Given the description of an element on the screen output the (x, y) to click on. 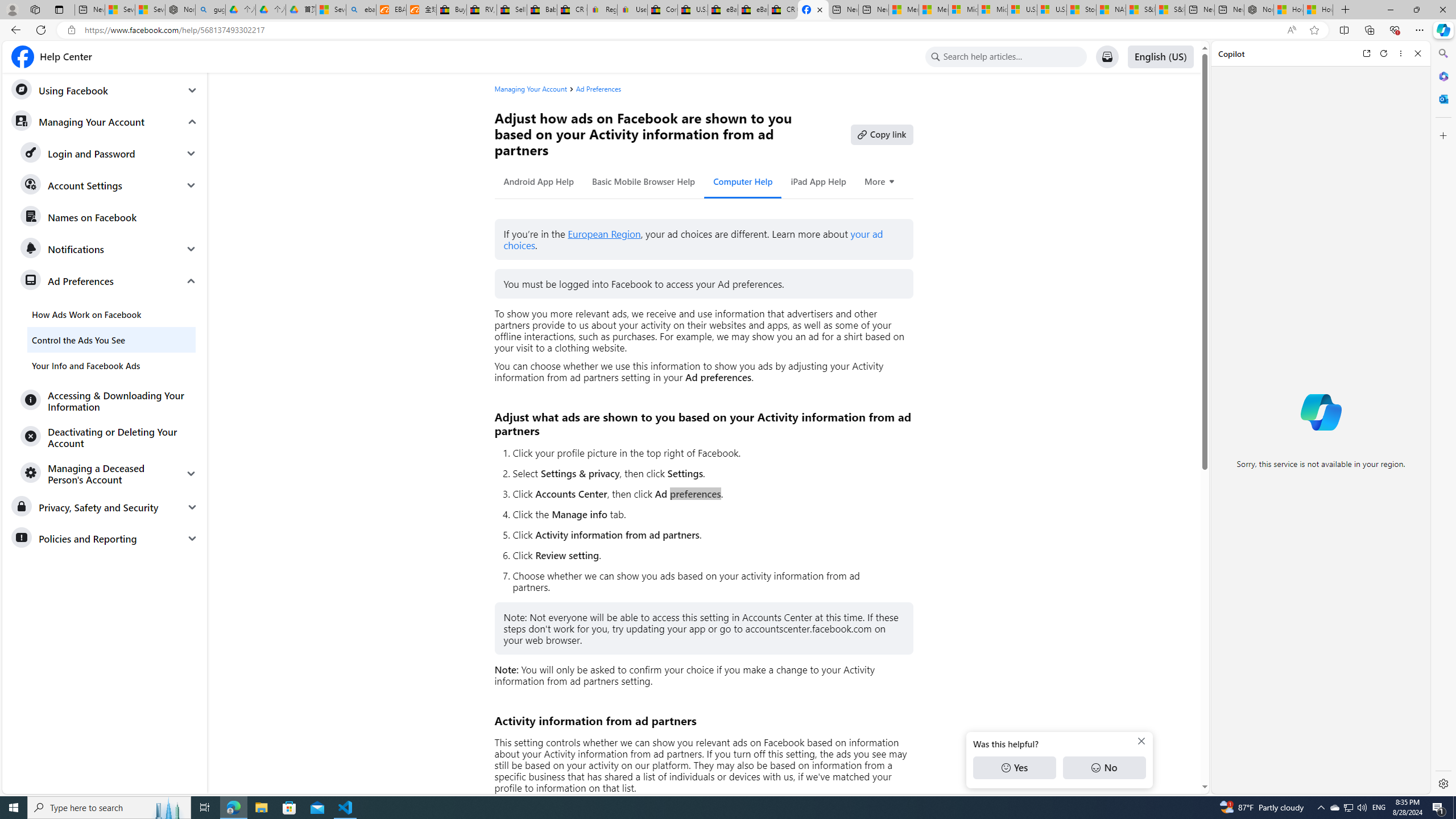
Side bar (1443, 418)
Consumer Health Data Privacy Policy - eBay Inc. (662, 9)
Click the Manage info tab. (707, 514)
Address and search bar (680, 29)
Login and Password (108, 153)
Ad Preferences Expand (109, 280)
Ad Preferences (598, 89)
Expand (191, 473)
Control the Ads You See (111, 339)
